Given the description of an element on the screen output the (x, y) to click on. 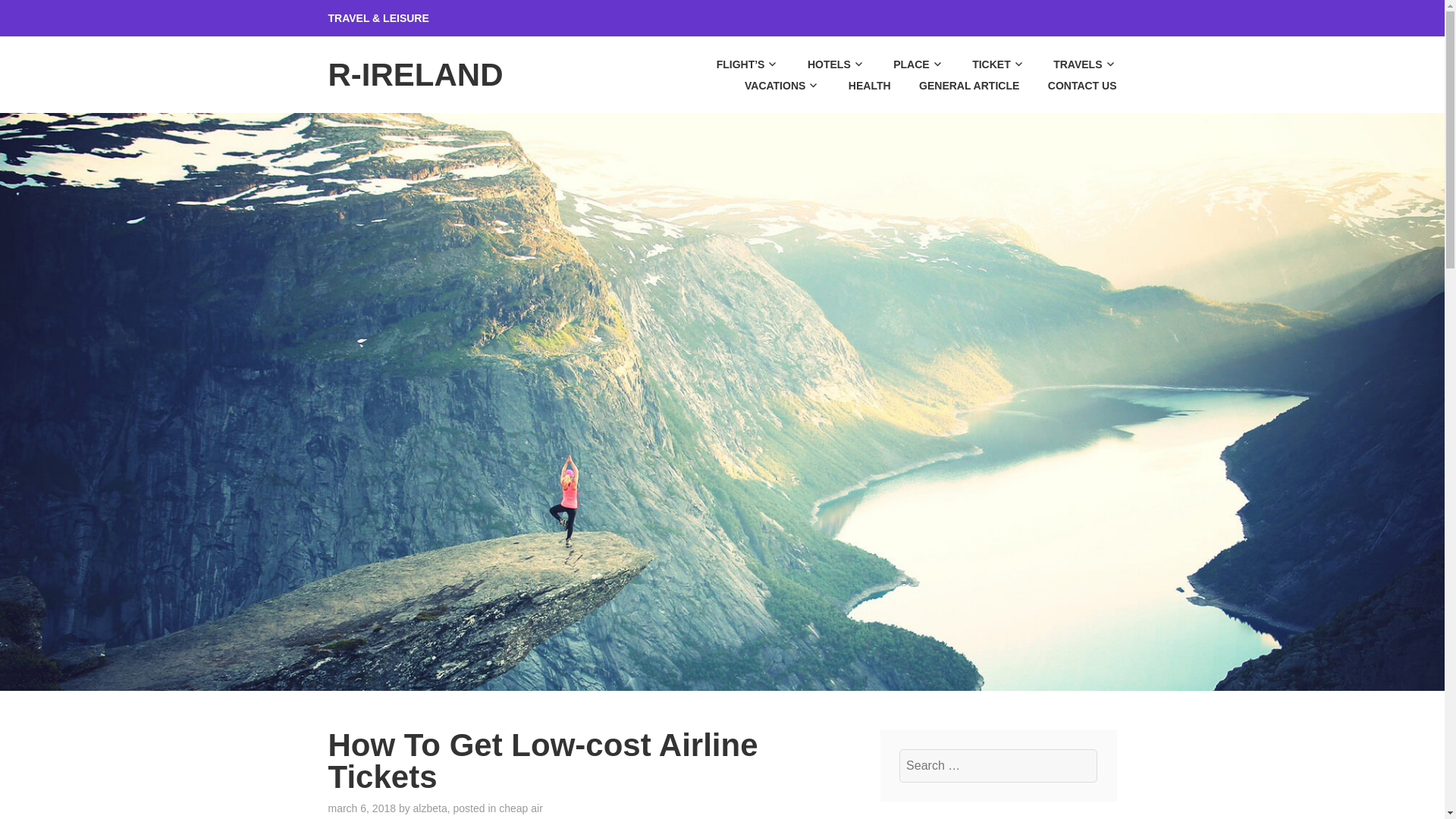
march 6, 2018 (361, 808)
VACATIONS (769, 85)
HOTELS (822, 64)
GENERAL ARTICLE (956, 85)
R-IRELAND (414, 74)
HEALTH (855, 85)
PLACE (905, 64)
TICKET (986, 64)
alzbeta (429, 808)
cheap air (521, 808)
CONTACT US (1069, 85)
TRAVELS (1071, 64)
